Given the description of an element on the screen output the (x, y) to click on. 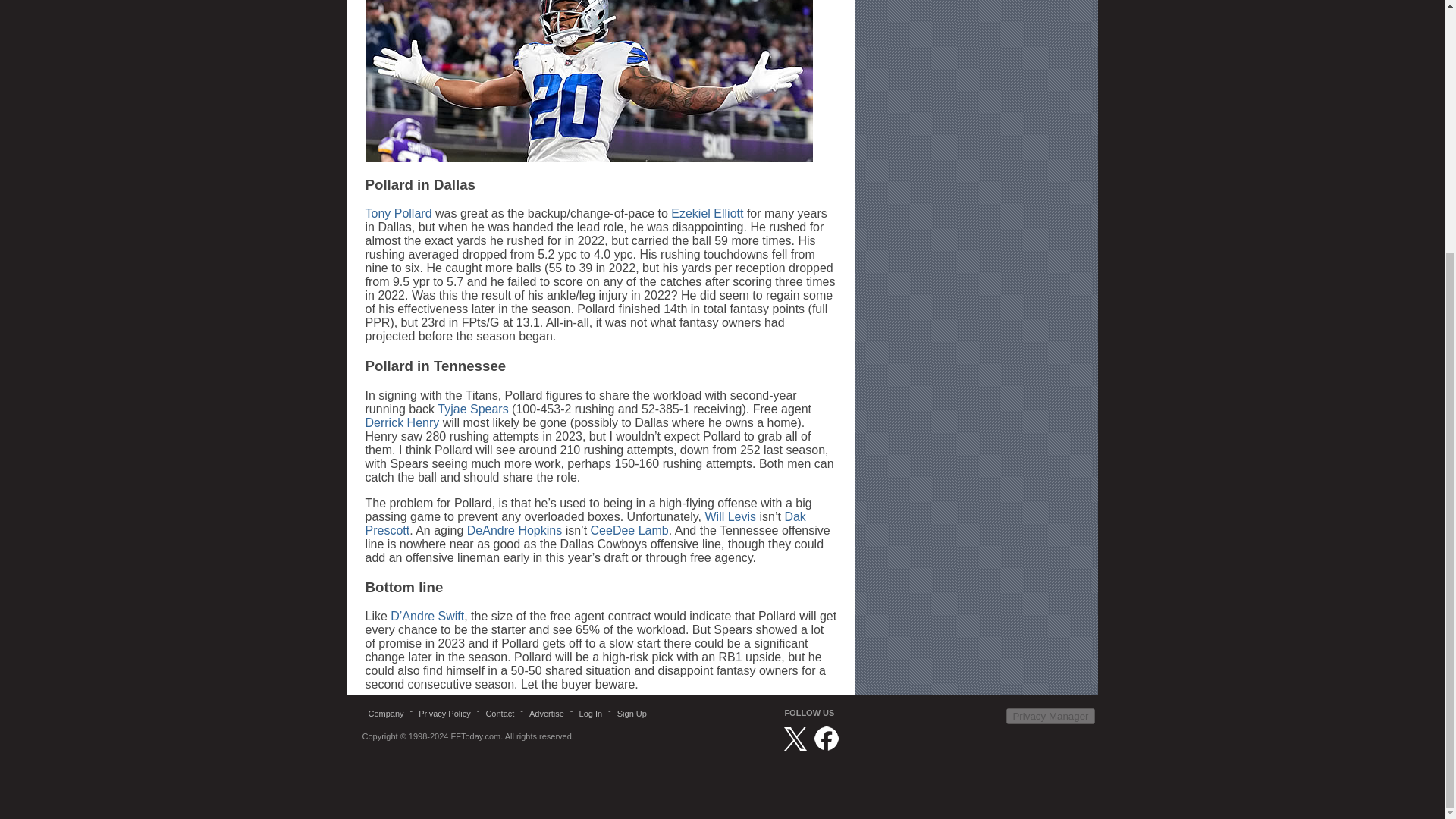
Log In (590, 713)
DeAndre Hopkins (514, 530)
Advertise (546, 713)
CeeDee Lamb (629, 530)
Privacy Manager (1050, 715)
Will Levis (729, 516)
Dak Prescott (585, 523)
Tony Pollard (398, 213)
Company (386, 713)
Tyjae Spears (473, 408)
